Given the description of an element on the screen output the (x, y) to click on. 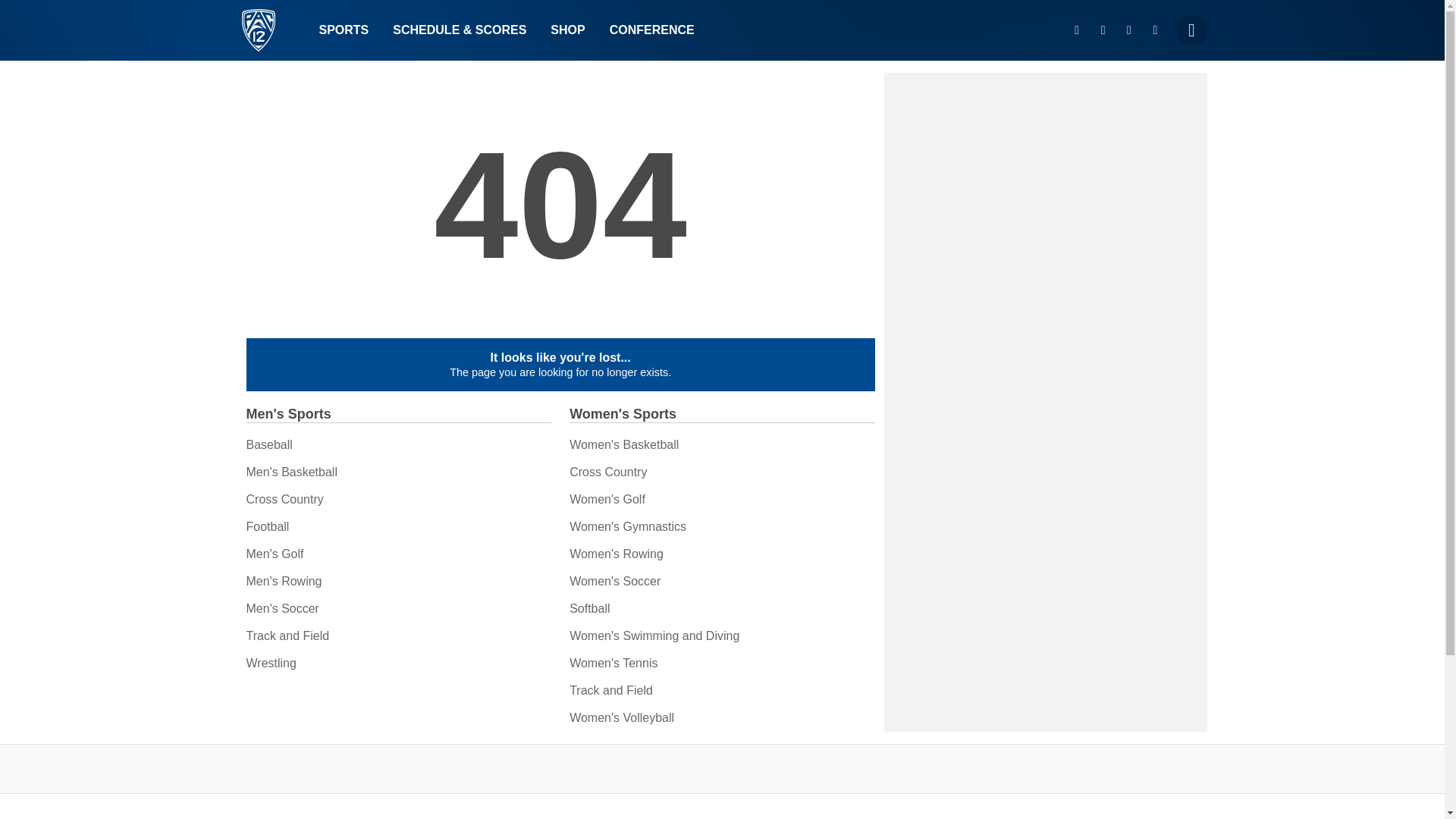
Instagram (1076, 29)
CONFERENCE (651, 30)
SHOP (567, 30)
SPORTS (342, 30)
Twitter (1102, 29)
Facebook (1129, 29)
TikTok (1155, 29)
